Given the description of an element on the screen output the (x, y) to click on. 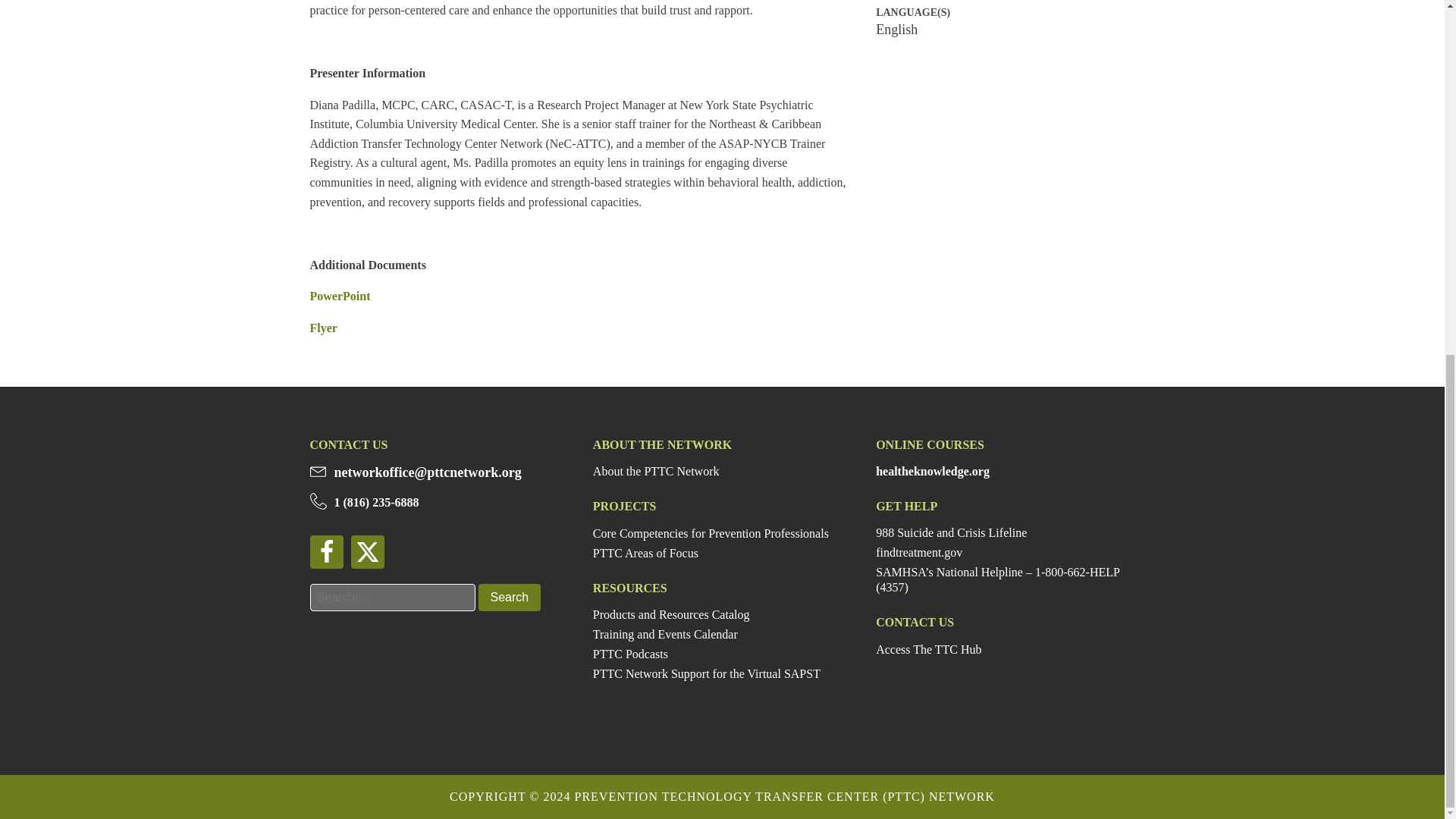
Search (508, 596)
Search (508, 596)
Flyer (322, 327)
PowerPoint (338, 295)
